Given the description of an element on the screen output the (x, y) to click on. 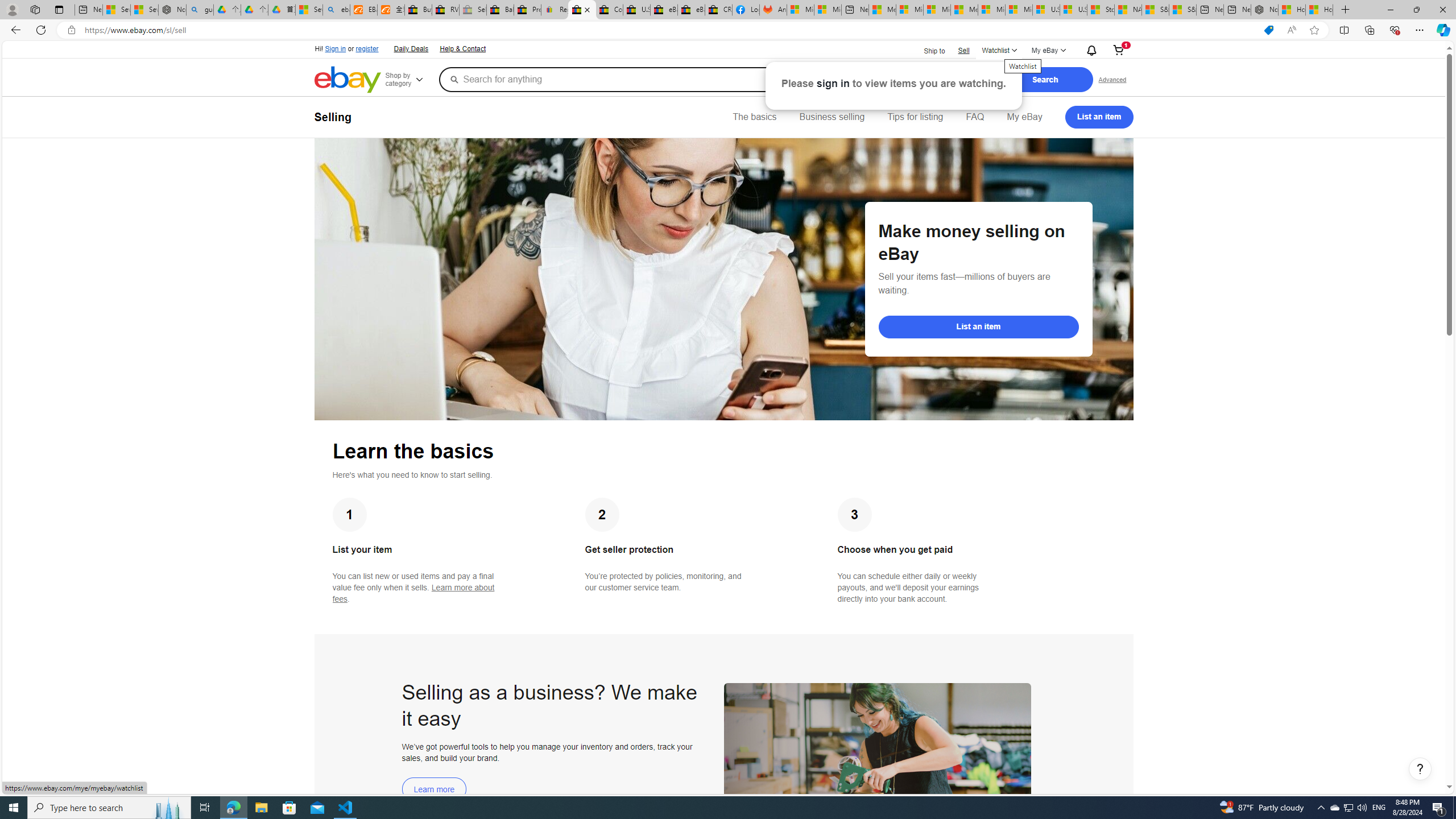
Advanced Search (1112, 78)
Help & Contact (461, 48)
Log into Facebook (746, 9)
Tips for listing (914, 116)
Business selling (831, 116)
My eBay (1024, 116)
Selling on eBay | Electronics, Fashion, Home & Garden | eBay (581, 9)
List an item (1099, 116)
Sell (963, 49)
Ship to (927, 49)
